Given the description of an element on the screen output the (x, y) to click on. 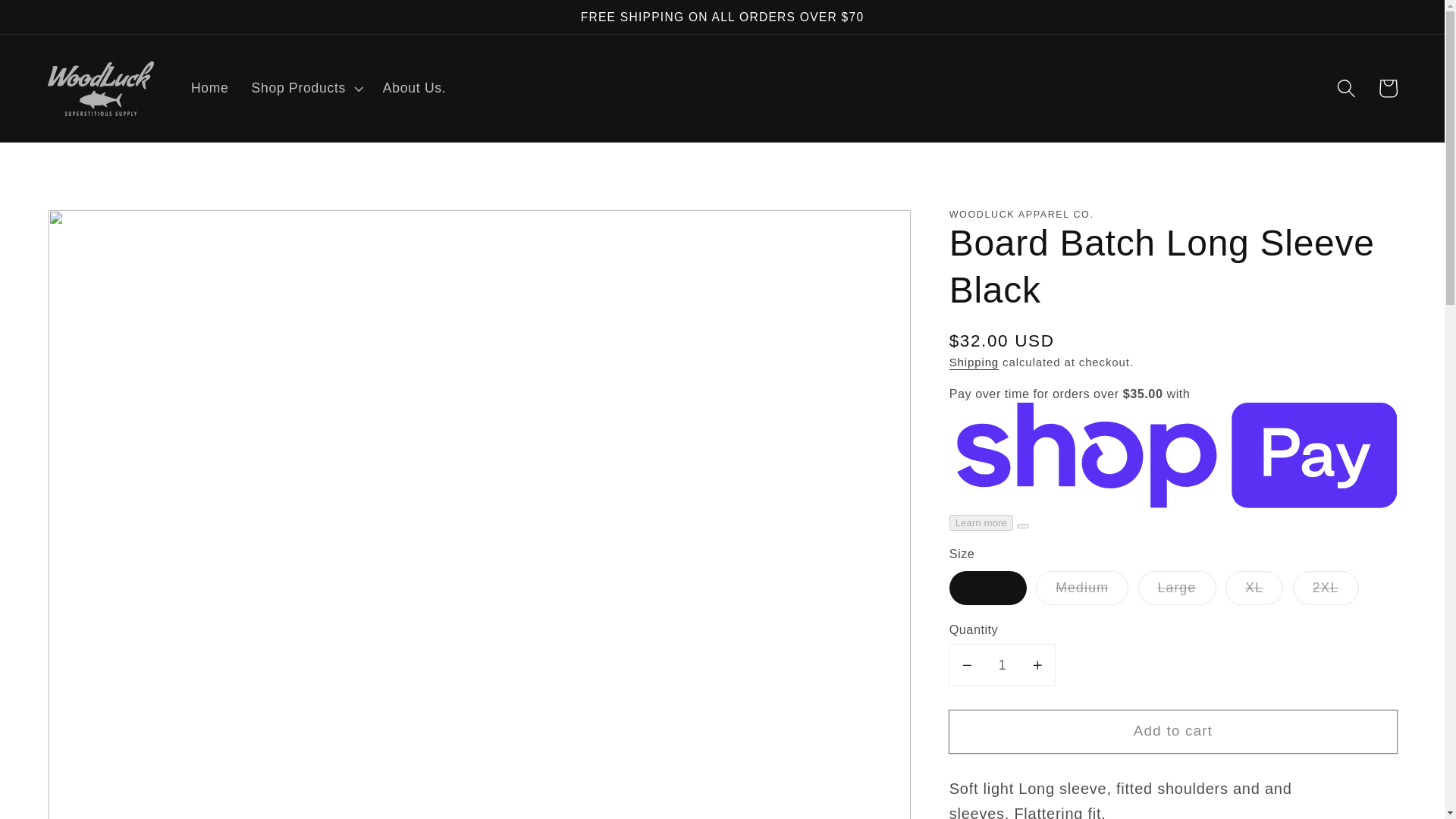
Skip to product information (103, 229)
Shipping (973, 361)
Add to cart (1173, 731)
Cart (1387, 87)
Home (209, 88)
Skip to content (56, 20)
